Given the description of an element on the screen output the (x, y) to click on. 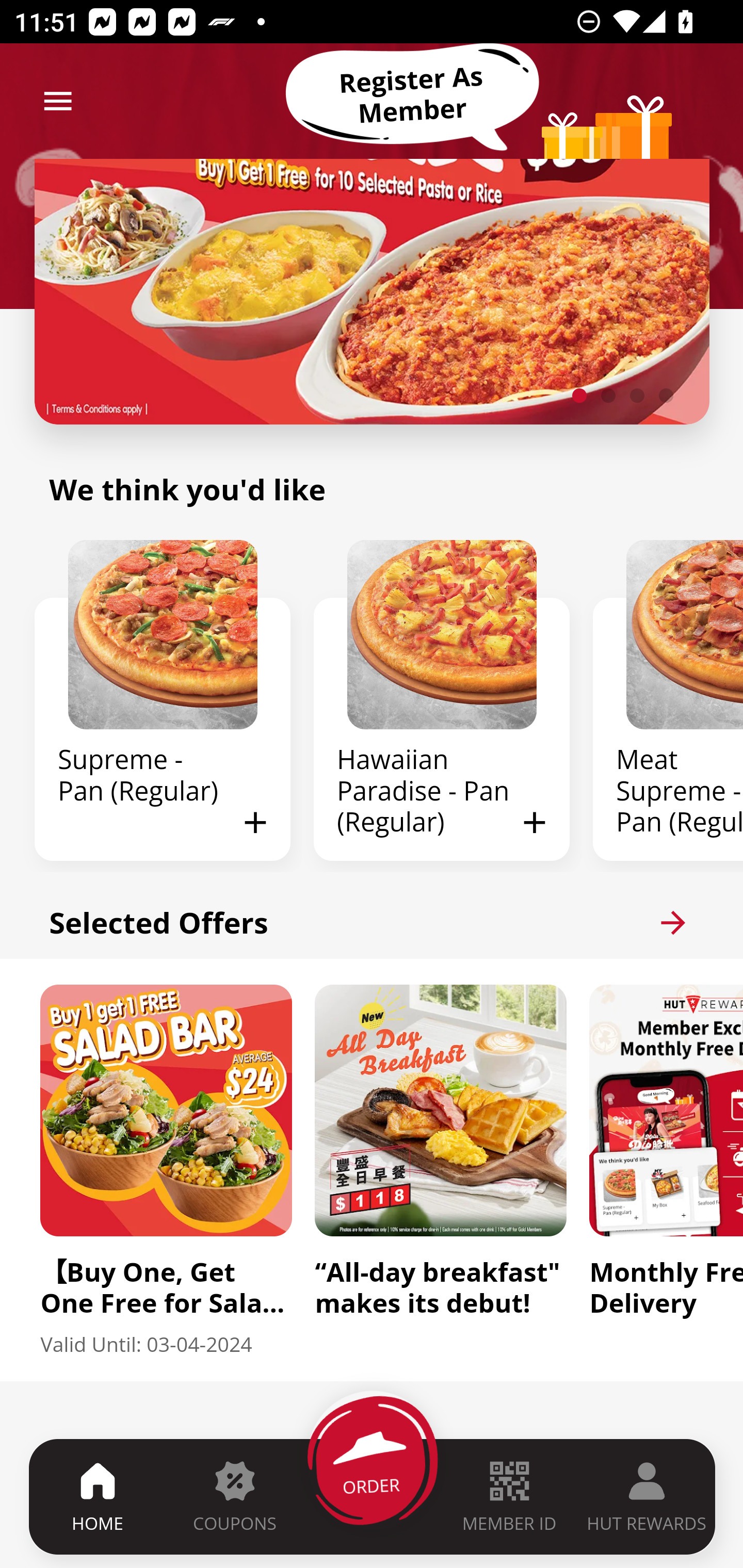
Register As Member (411, 95)
menu (58, 100)
arrow_forward (672, 922)
HOME (97, 1496)
COUPONS (234, 1496)
ORDER (372, 1496)
MEMBER ID (509, 1496)
HUT REWARDS (647, 1496)
